Given the description of an element on the screen output the (x, y) to click on. 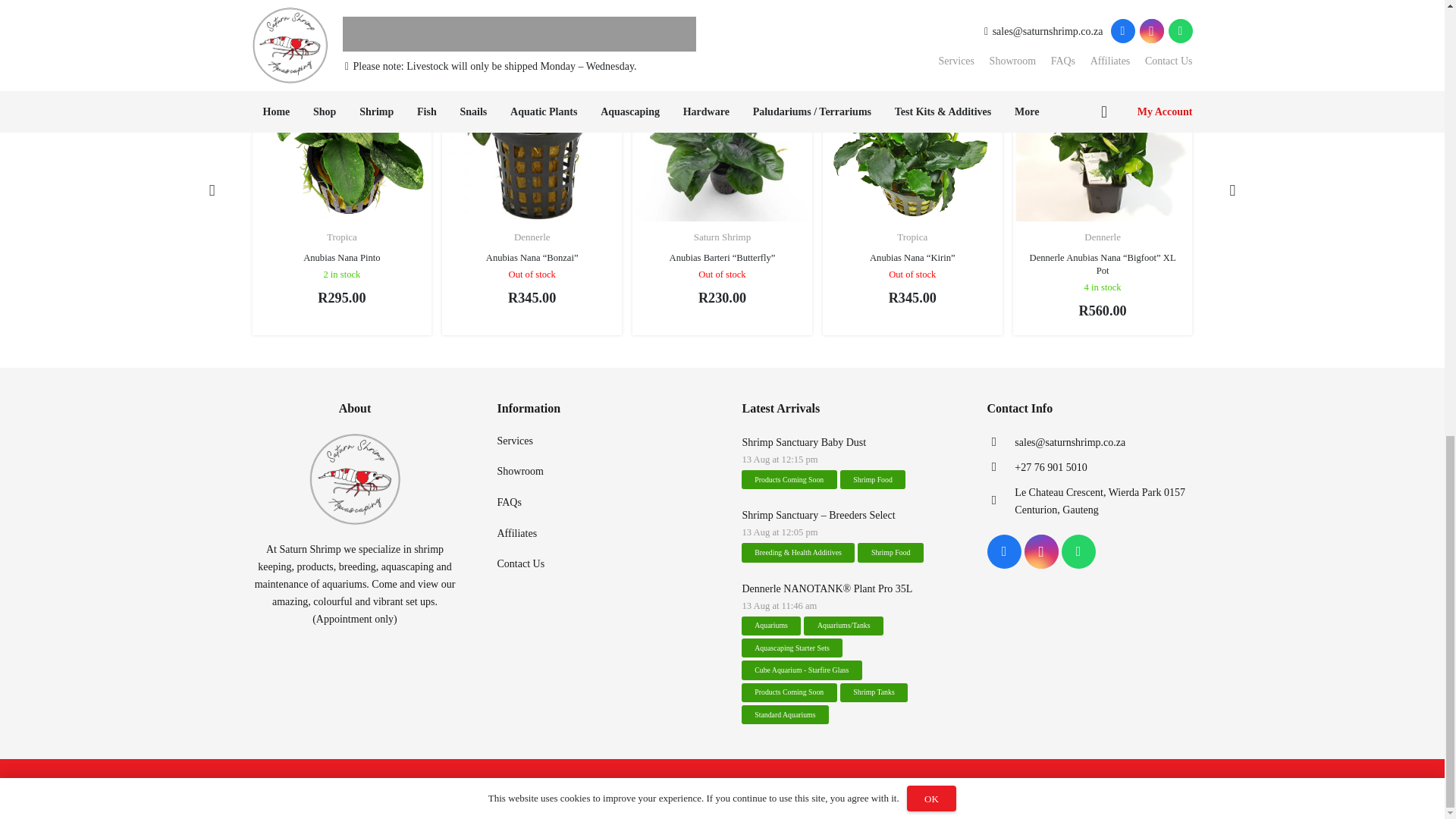
Instagram (1040, 551)
WhatsApp (1078, 551)
Facebook (1004, 551)
